Given the description of an element on the screen output the (x, y) to click on. 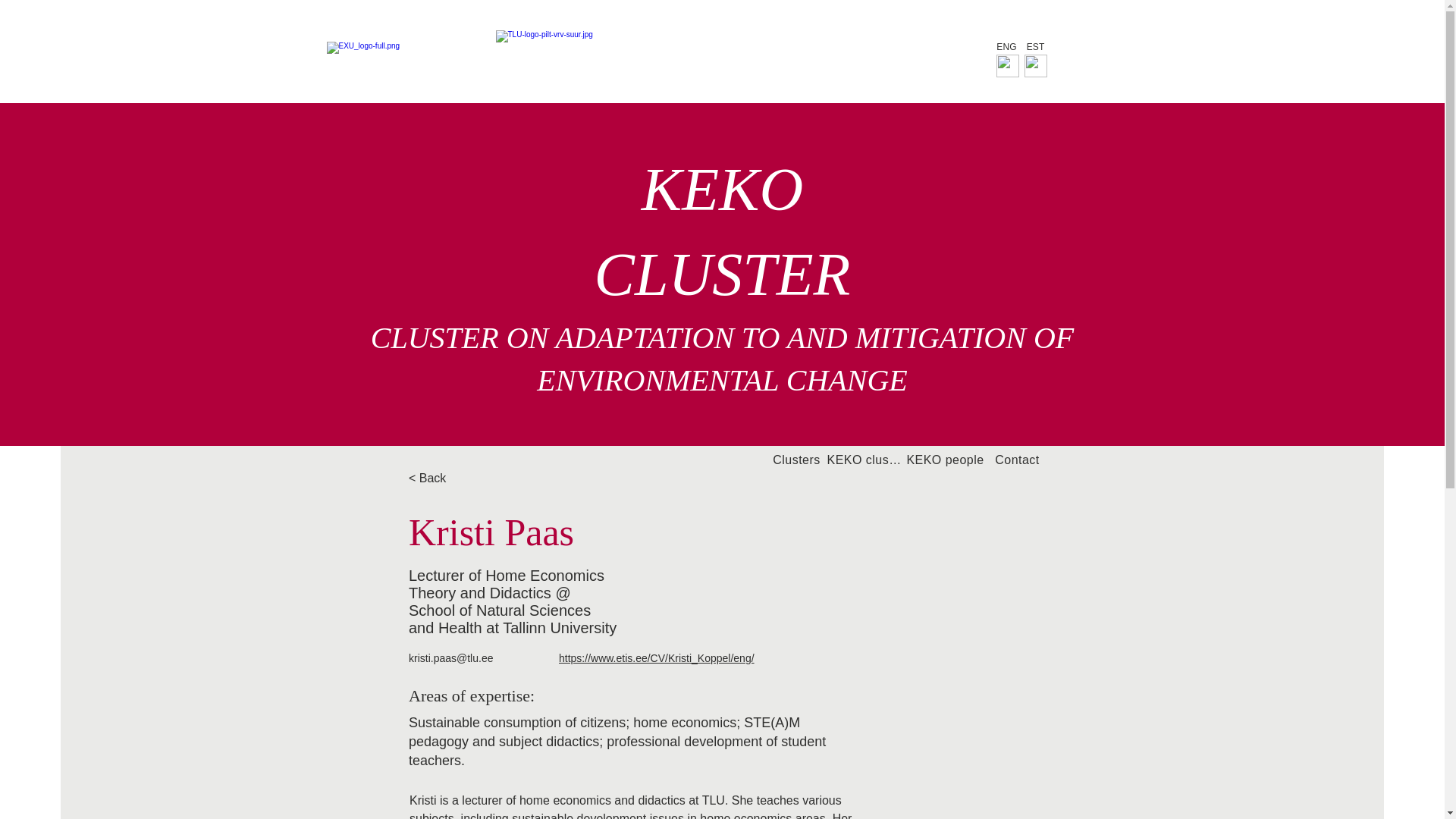
EST (1035, 46)
KEKO people (945, 459)
ENG (1005, 46)
KEKO cluster (864, 459)
Clusters (796, 459)
Contact (1017, 459)
